Given the description of an element on the screen output the (x, y) to click on. 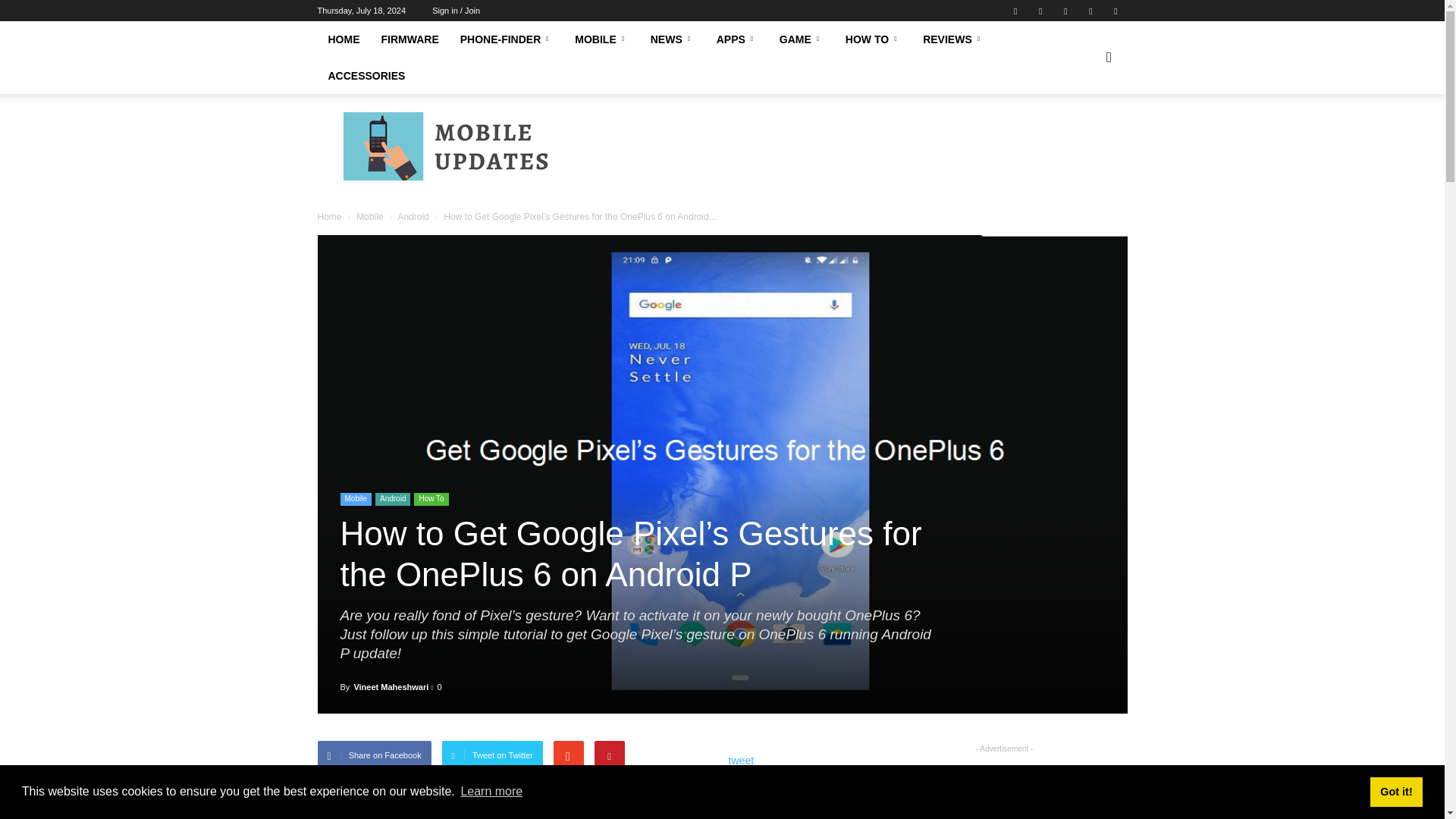
Got it! (1396, 791)
Learn more (491, 791)
VKontakte (1090, 10)
Facebook (1015, 10)
Twitter (1040, 10)
Vimeo (1065, 10)
Youtube (1114, 10)
